Given the description of an element on the screen output the (x, y) to click on. 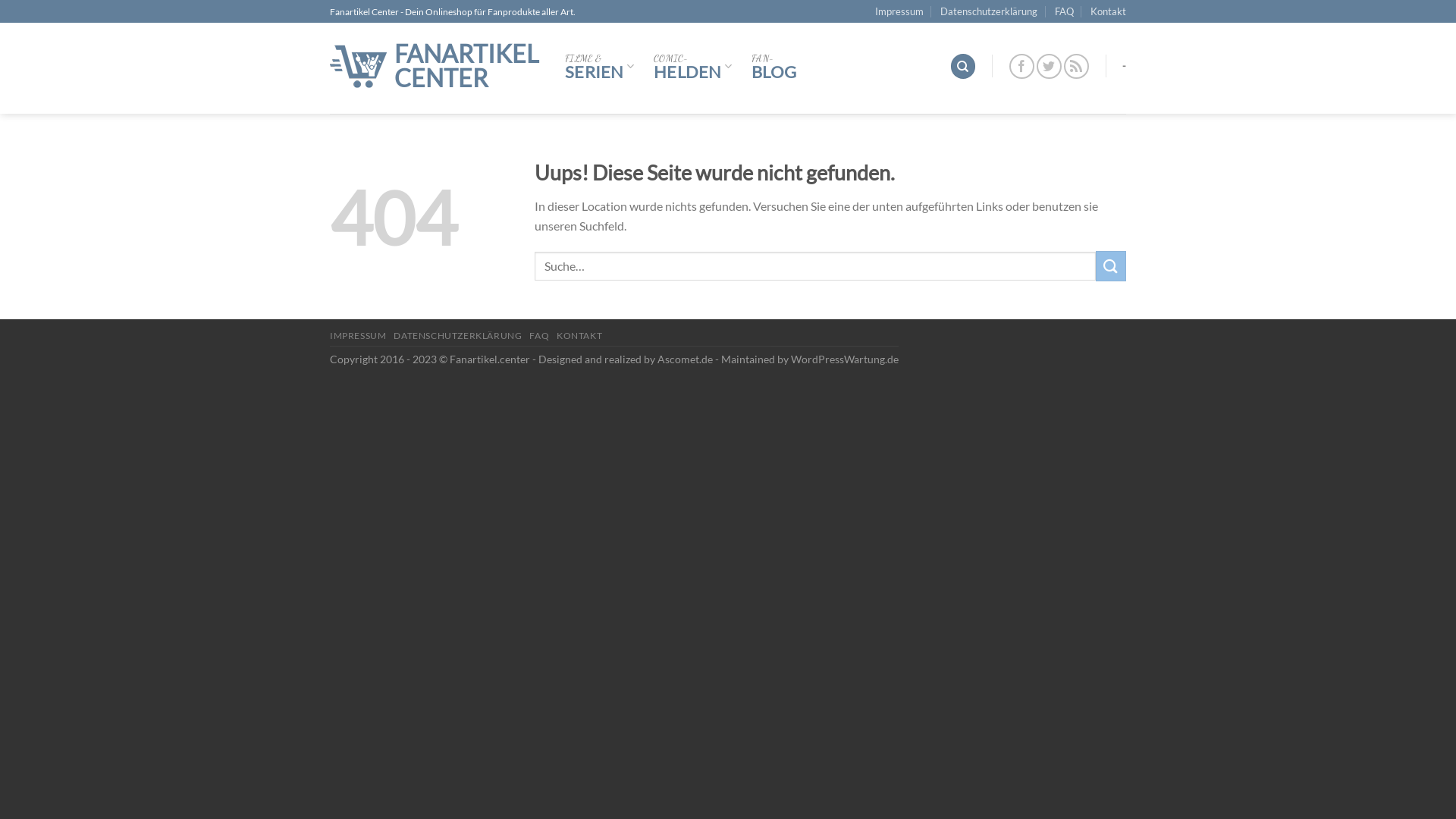
Fanartikel.center Element type: text (489, 358)
Kontakt Element type: text (1108, 11)
FAQ Element type: text (1063, 11)
WordPressWartung.de Element type: text (844, 358)
FAQ Element type: text (539, 335)
- Element type: text (1124, 65)
FANARTIKEL CENTER Element type: text (435, 65)
FAN-
BLOG Element type: text (773, 65)
COMIC-
HELDEN Element type: text (692, 65)
IMPRESSUM Element type: text (357, 335)
Ascomet.de Element type: text (684, 358)
KONTAKT Element type: text (579, 335)
Impressum Element type: text (899, 11)
FILME &
SERIEN Element type: text (598, 65)
